Given the description of an element on the screen output the (x, y) to click on. 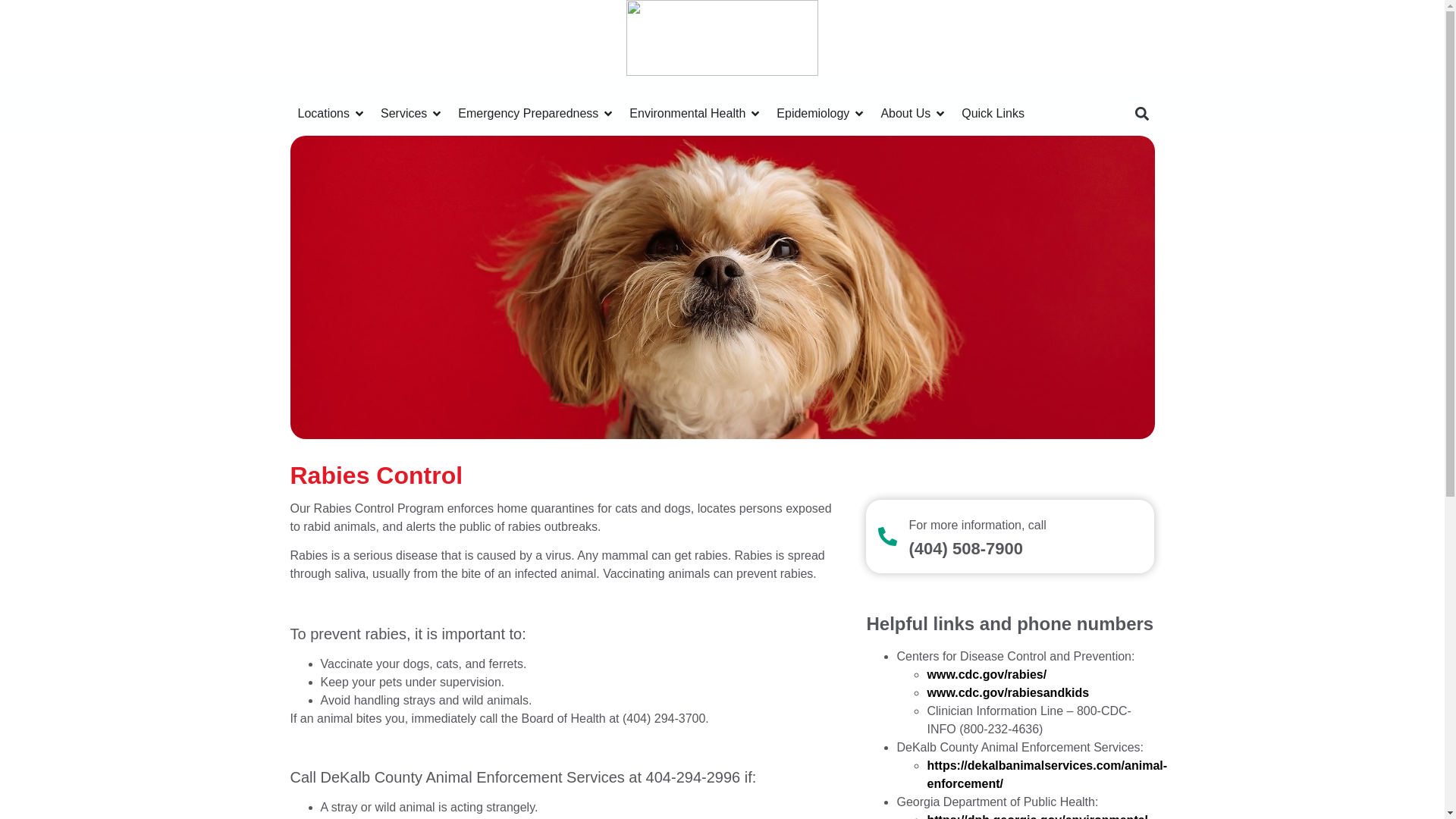
Spanish (1063, 111)
English (1047, 111)
Arabic (1077, 111)
